Given the description of an element on the screen output the (x, y) to click on. 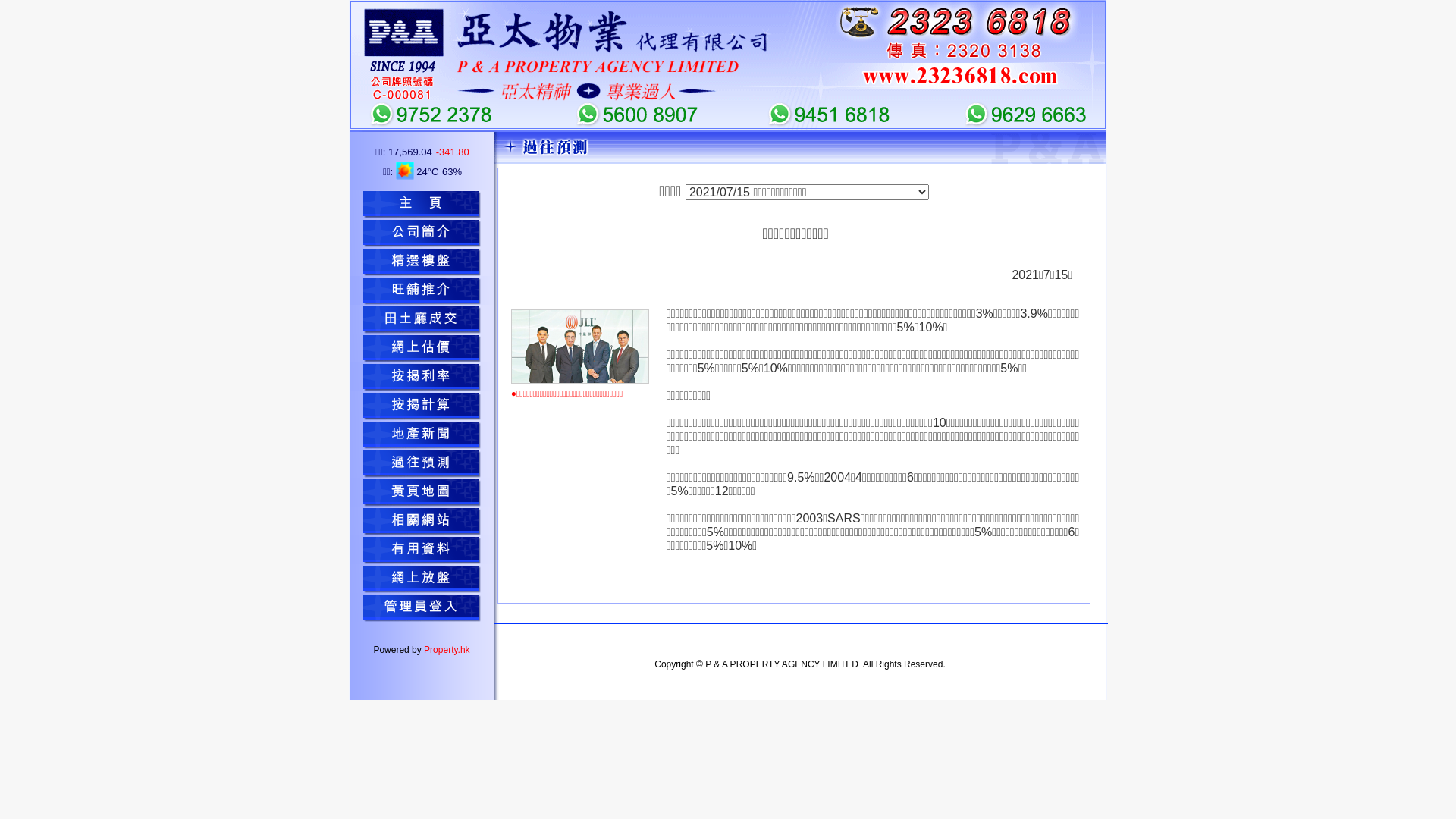
Property.hk Element type: text (446, 649)
